Given the description of an element on the screen output the (x, y) to click on. 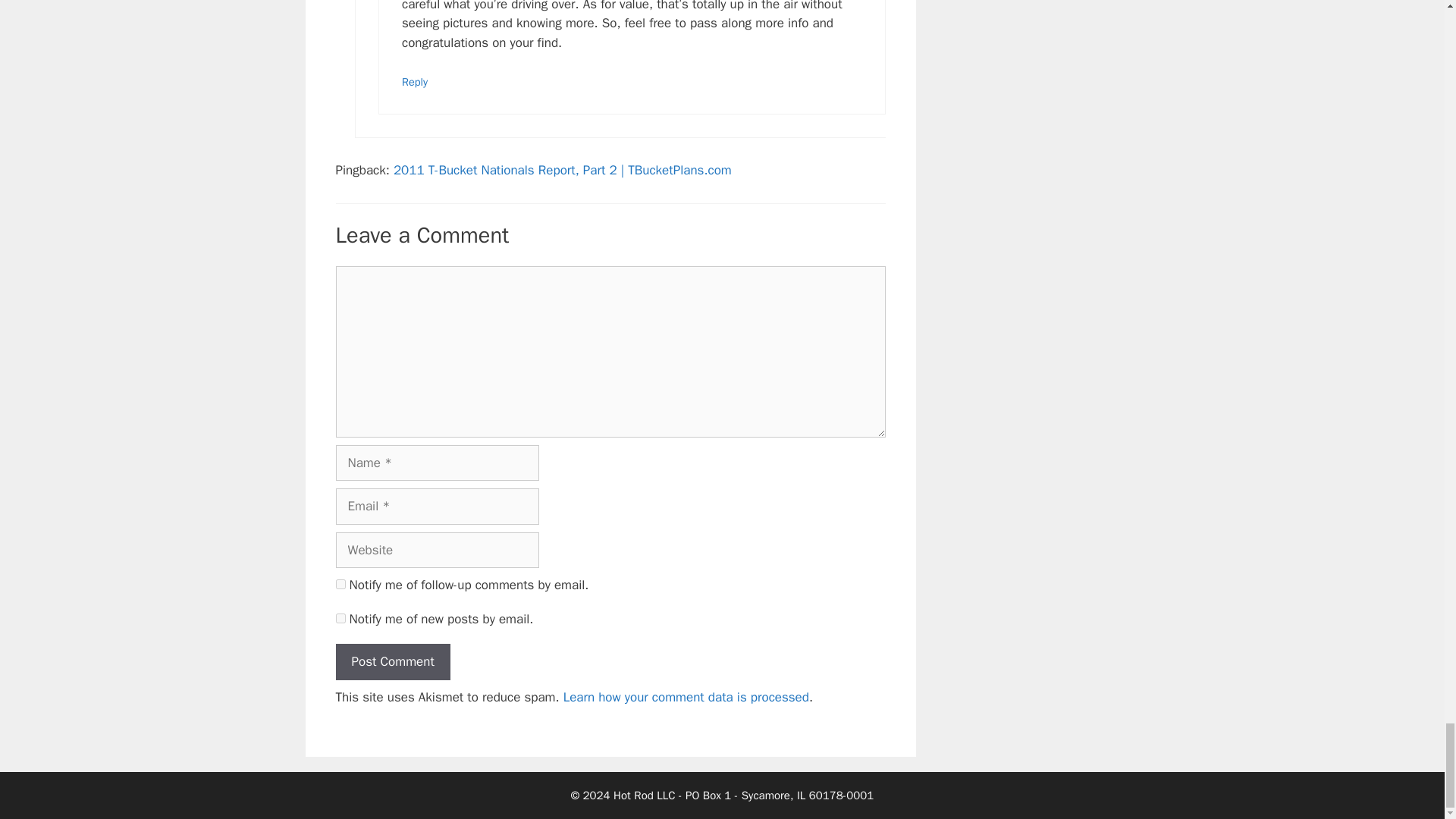
subscribe (339, 618)
subscribe (339, 583)
Post Comment (391, 661)
